Given the description of an element on the screen output the (x, y) to click on. 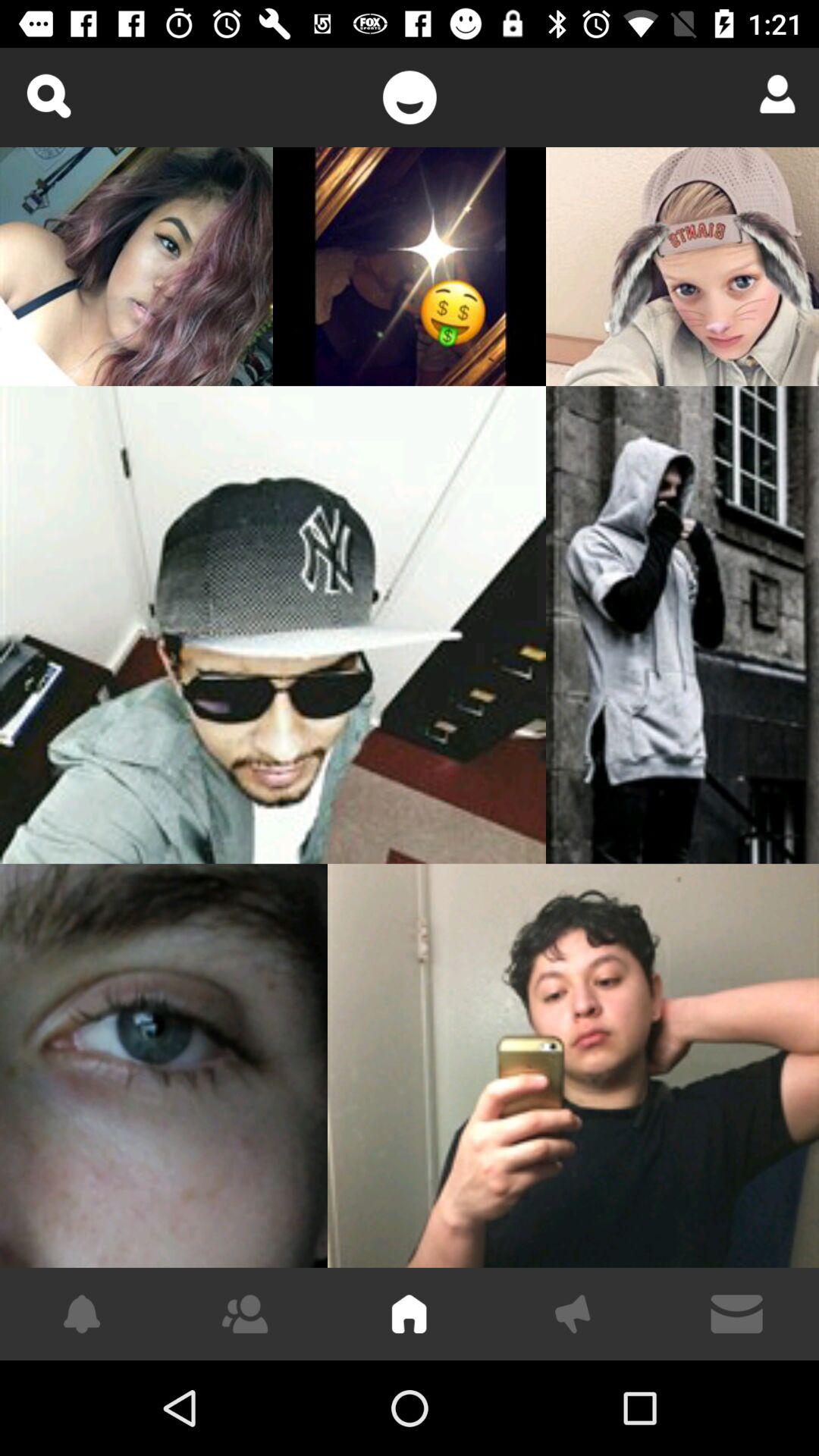
profile link (772, 93)
